Given the description of an element on the screen output the (x, y) to click on. 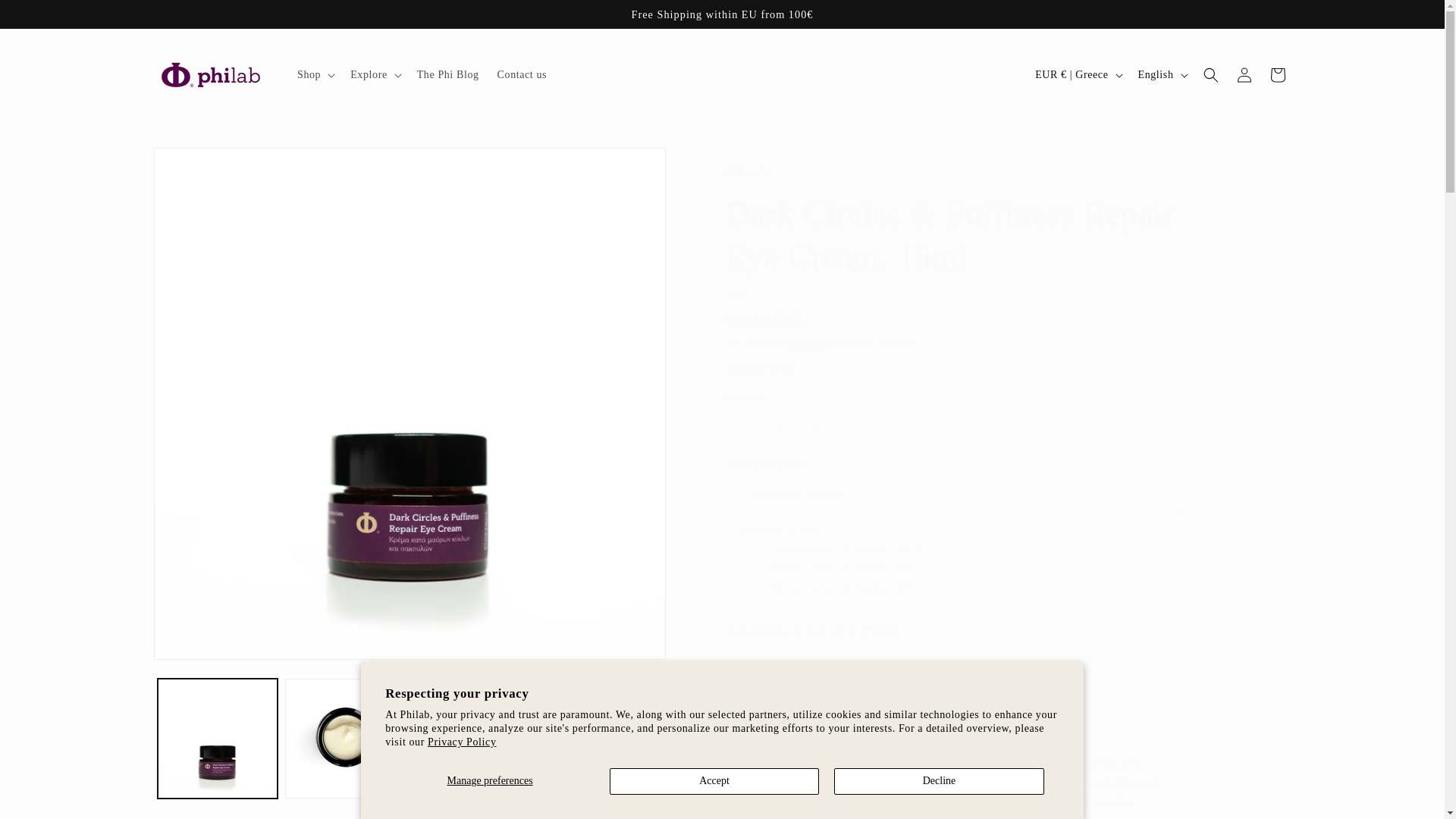
Decline (938, 781)
on (762, 567)
Privacy Policy (462, 741)
Skip to content (45, 17)
on (746, 493)
Accept (714, 781)
on (762, 547)
on (762, 586)
1 (780, 426)
Manage preferences (489, 781)
